Given the description of an element on the screen output the (x, y) to click on. 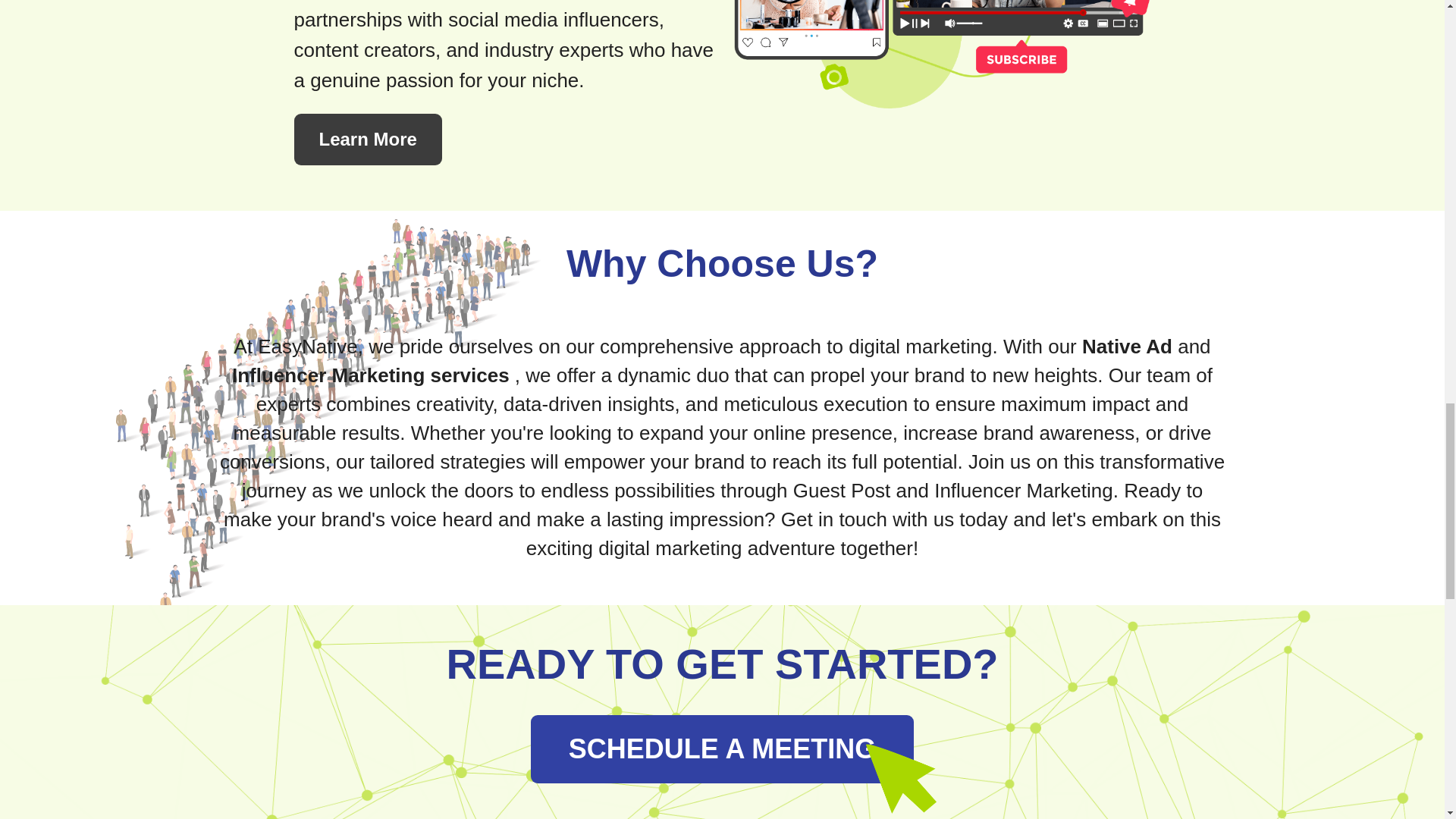
Learn More (368, 139)
SCHEDULE A MEETING (722, 748)
